Given the description of an element on the screen output the (x, y) to click on. 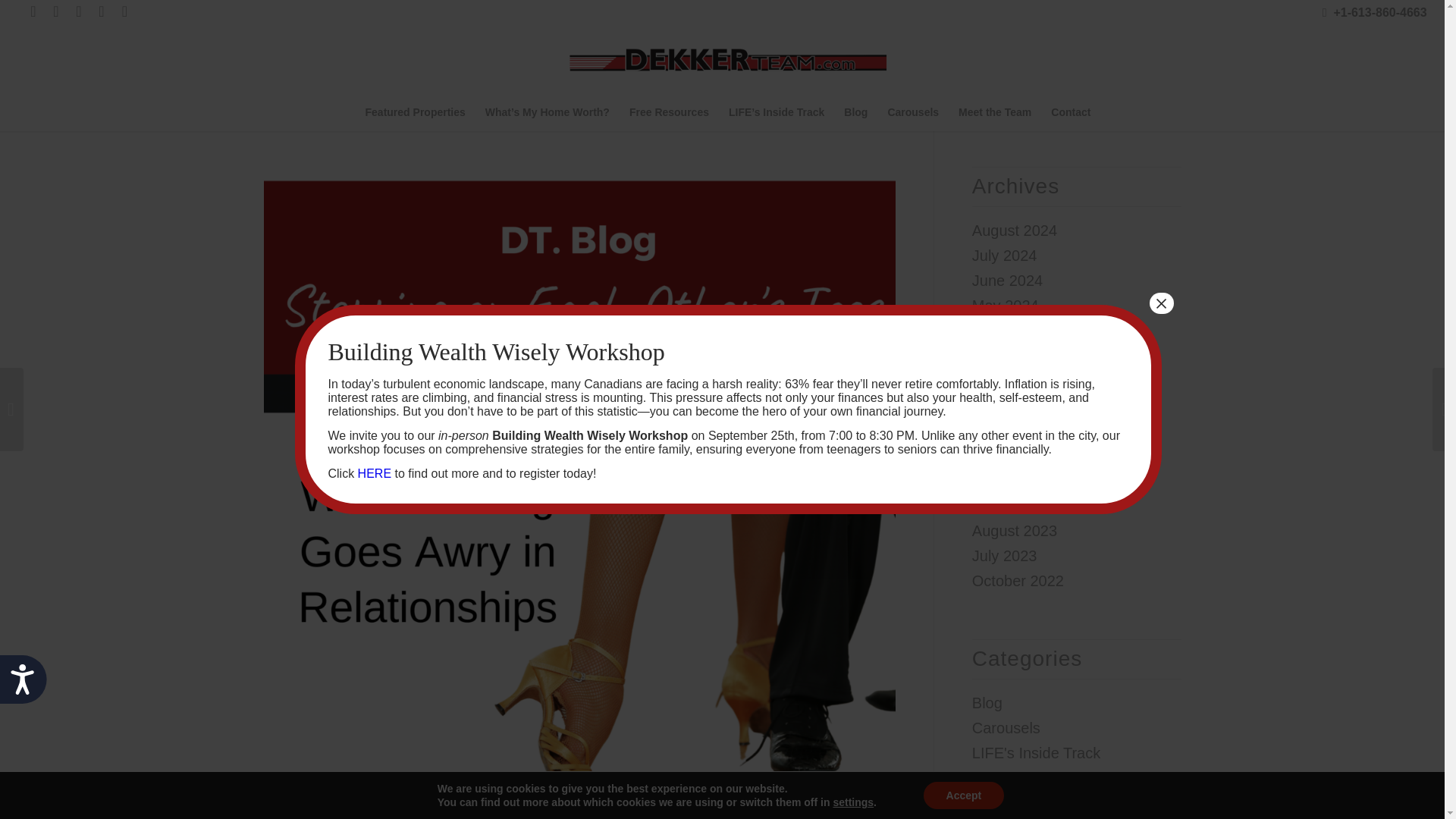
August 2024 (1014, 230)
July 2024 (1004, 255)
October 2023 (1018, 480)
Instagram (55, 11)
Accessibility (29, 685)
Youtube (101, 11)
January 2024 (1018, 405)
Featured Properties (415, 112)
April 2024 (1006, 330)
May 2024 (1005, 305)
